Given the description of an element on the screen output the (x, y) to click on. 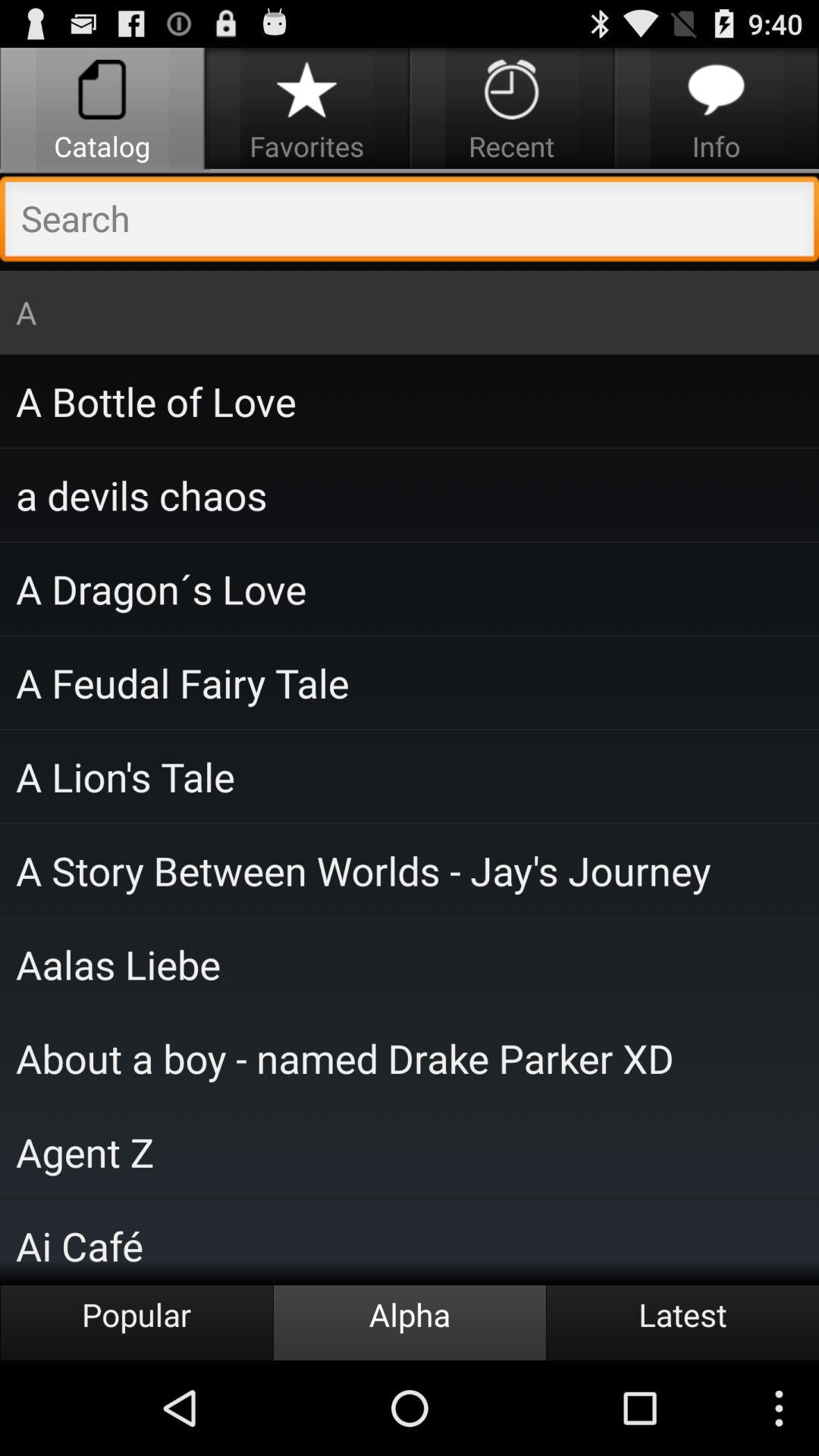
press the item below the a bottle of item (409, 494)
